Given the description of an element on the screen output the (x, y) to click on. 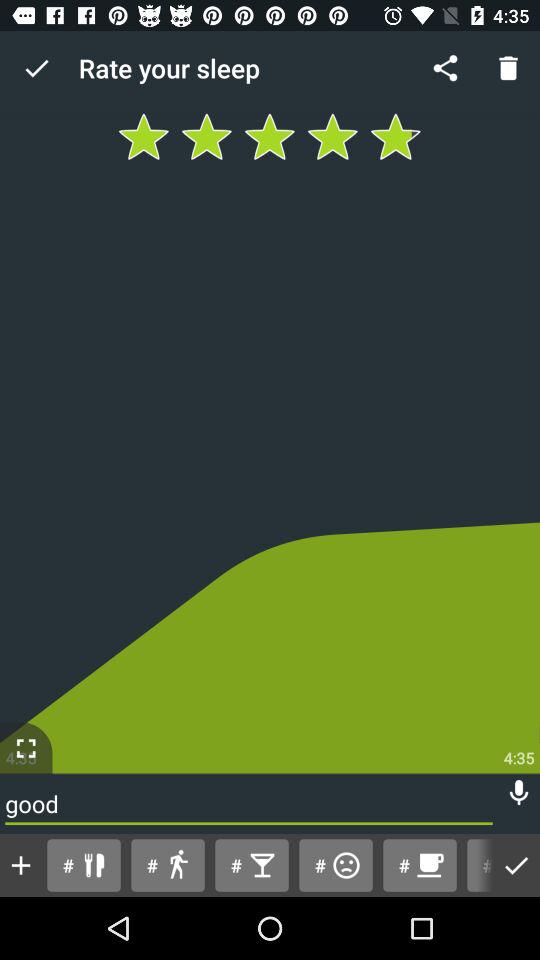
select button next to # item (476, 864)
